Given the description of an element on the screen output the (x, y) to click on. 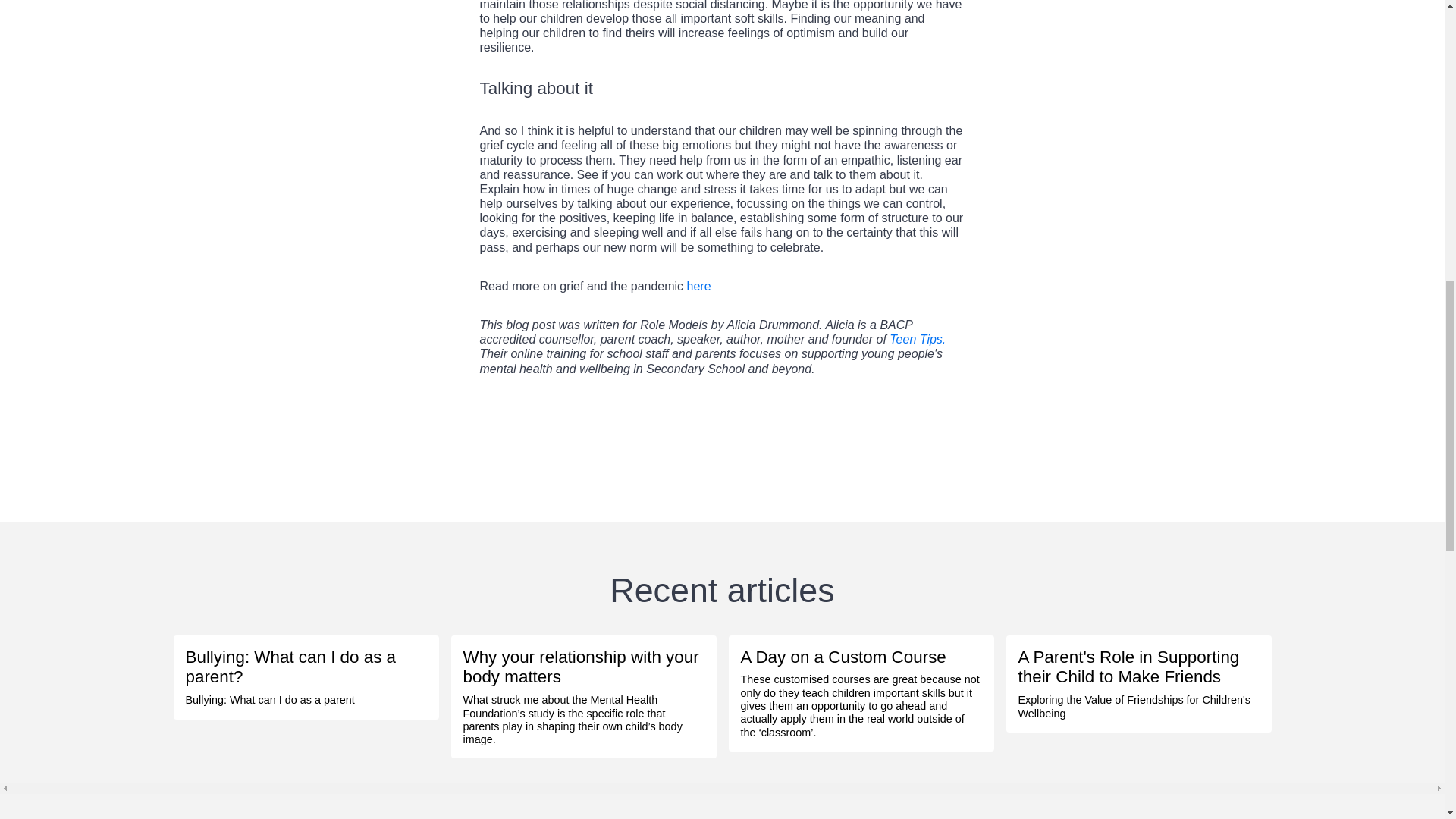
Teen Tips. (916, 338)
here (699, 286)
